Given the description of an element on the screen output the (x, y) to click on. 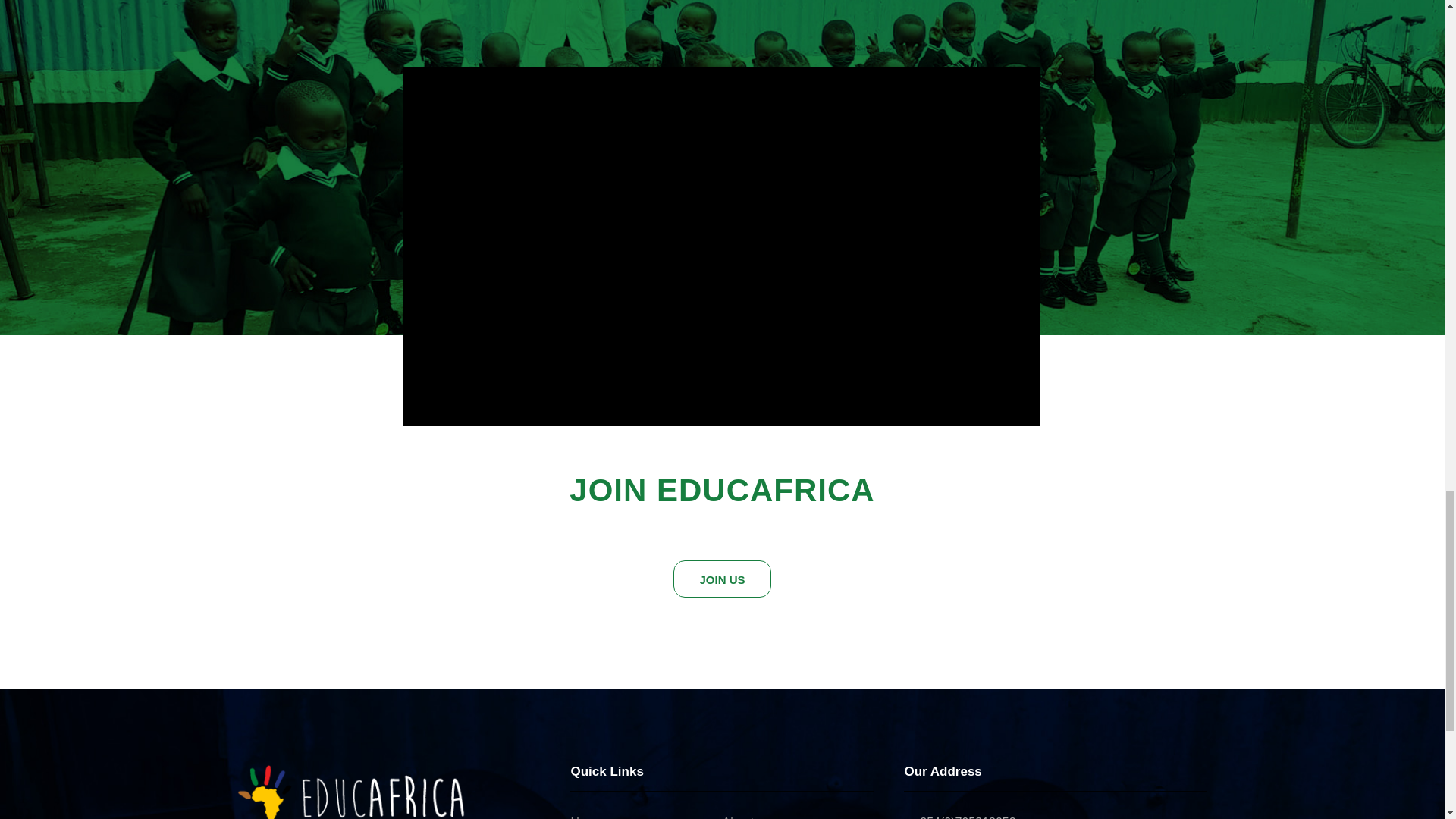
About us (746, 817)
Home (586, 817)
JOIN US (721, 578)
